Given the description of an element on the screen output the (x, y) to click on. 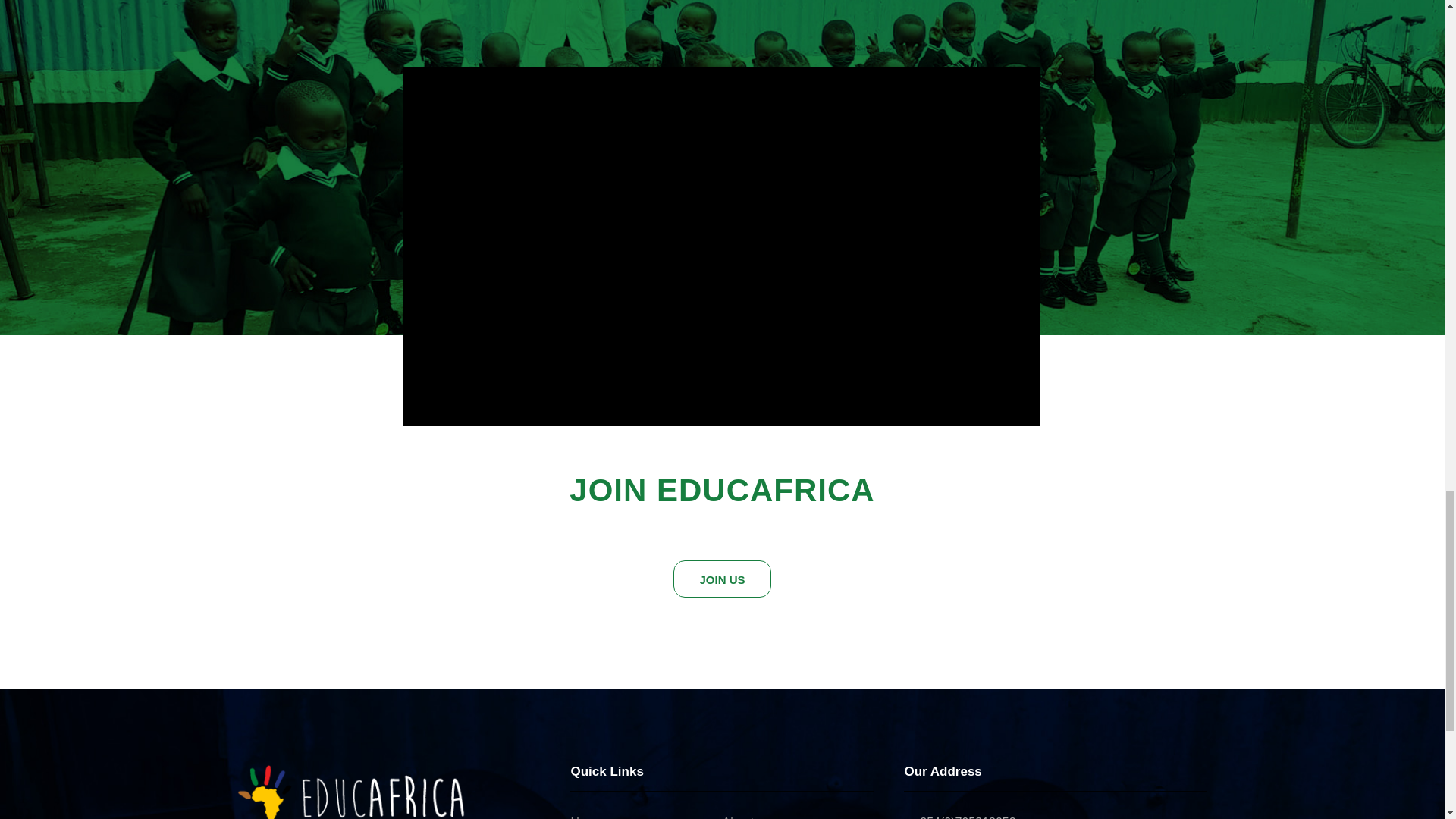
About us (746, 817)
Home (586, 817)
JOIN US (721, 578)
